Given the description of an element on the screen output the (x, y) to click on. 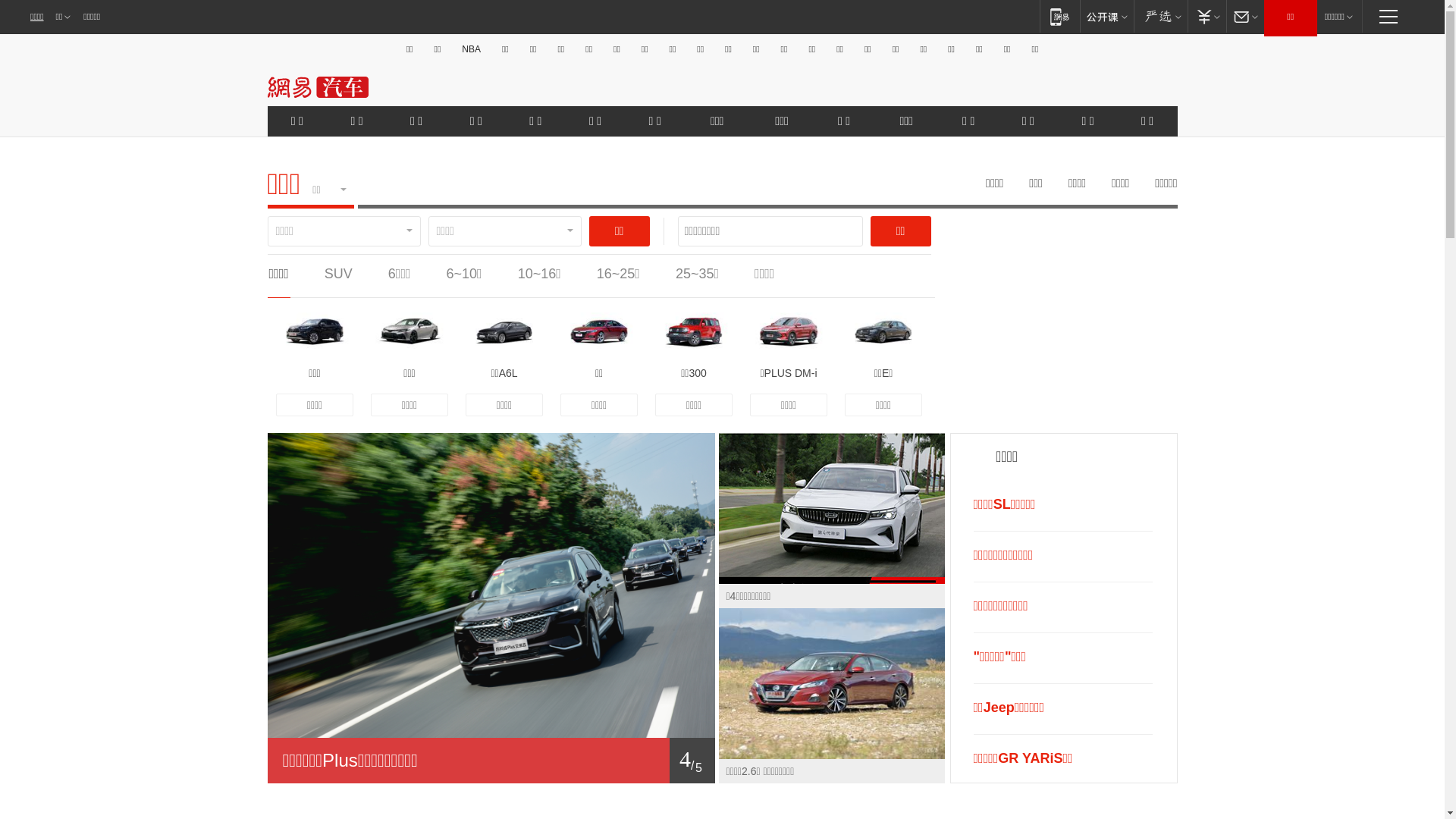
1/ 5 Element type: text (490, 760)
NBA Element type: text (471, 48)
SUV Element type: text (338, 273)
